Given the description of an element on the screen output the (x, y) to click on. 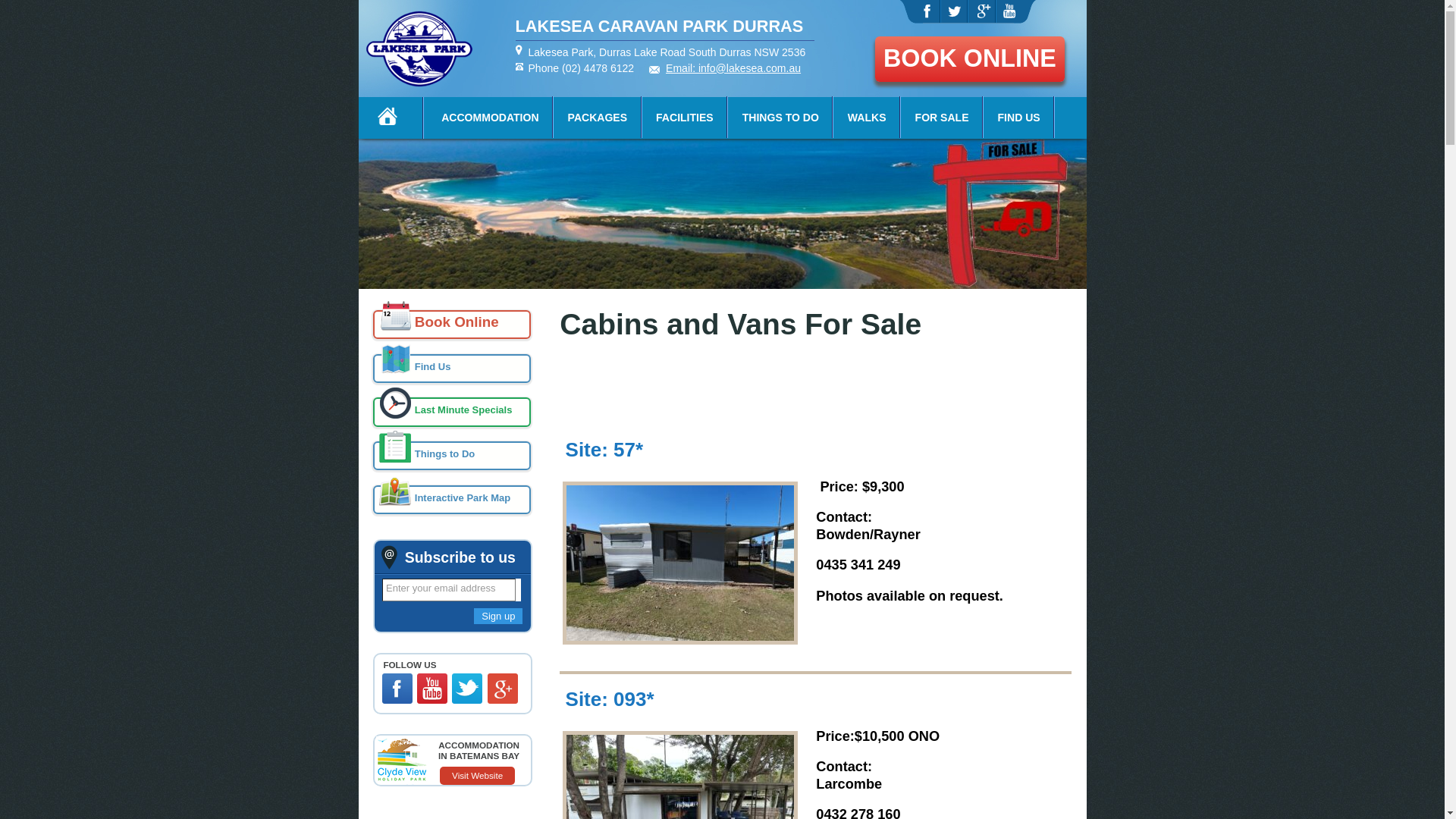
PACKAGES Element type: text (597, 118)
Sign up Element type: text (497, 616)
Find Us Element type: text (451, 368)
FACILITIES Element type: text (684, 118)
BOOK ONLINE Element type: text (969, 58)
FOR SALE Element type: text (942, 118)
ACCOMMODATION Element type: text (489, 118)
WALKS Element type: text (866, 118)
Book Online Element type: text (451, 324)
Visit Website Element type: text (476, 775)
Last Minute Specials Element type: text (451, 411)
Things to Do Element type: text (451, 455)
THINGS TO DO Element type: text (780, 118)
FIND US Element type: text (1018, 118)
Email: info@lakesea.com.au Element type: text (732, 68)
Interactive Park Map Element type: text (451, 499)
